Given the description of an element on the screen output the (x, y) to click on. 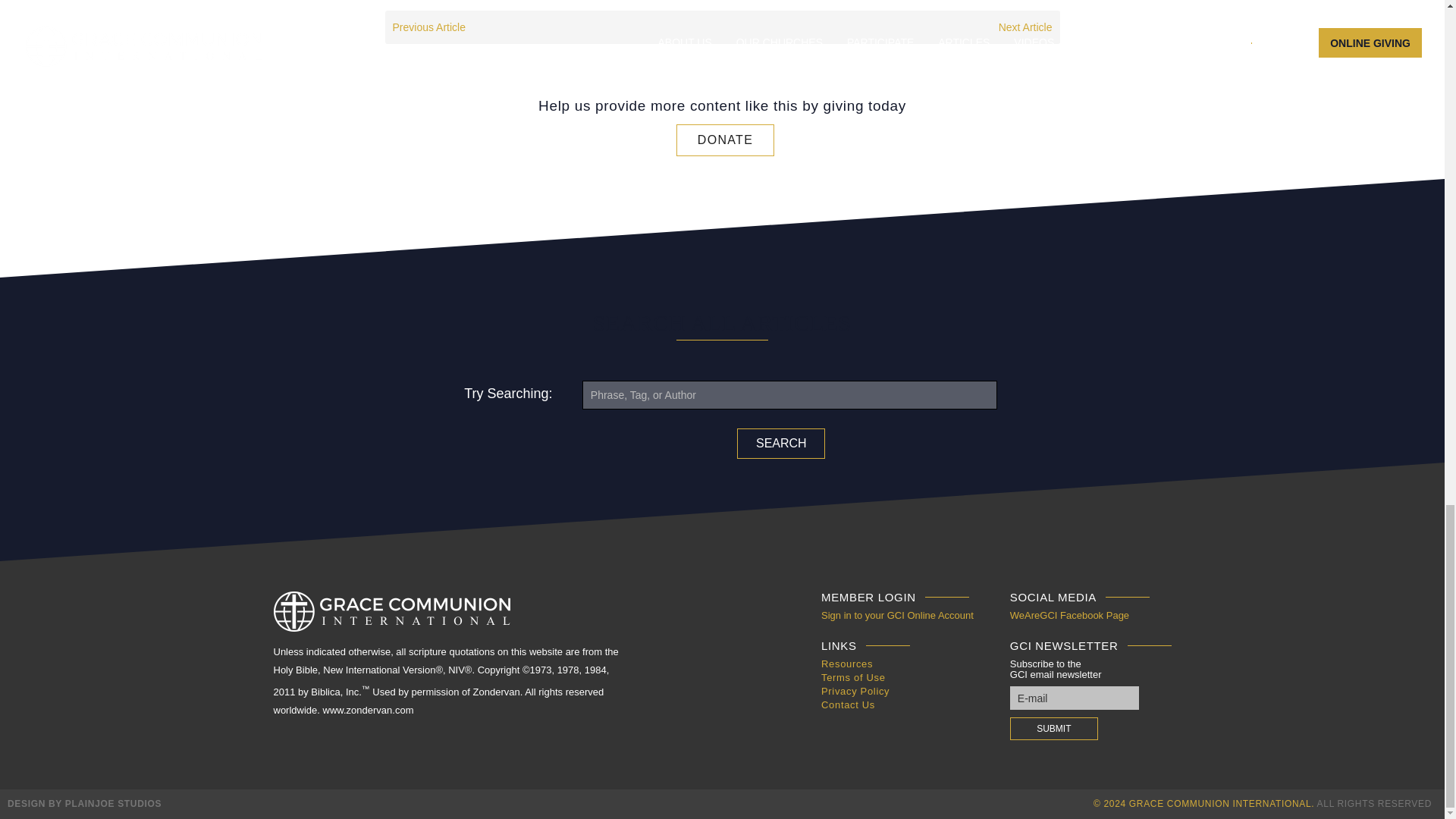
Search (780, 443)
Submit (1053, 728)
Design by Plain Joe Studios (84, 803)
